Given the description of an element on the screen output the (x, y) to click on. 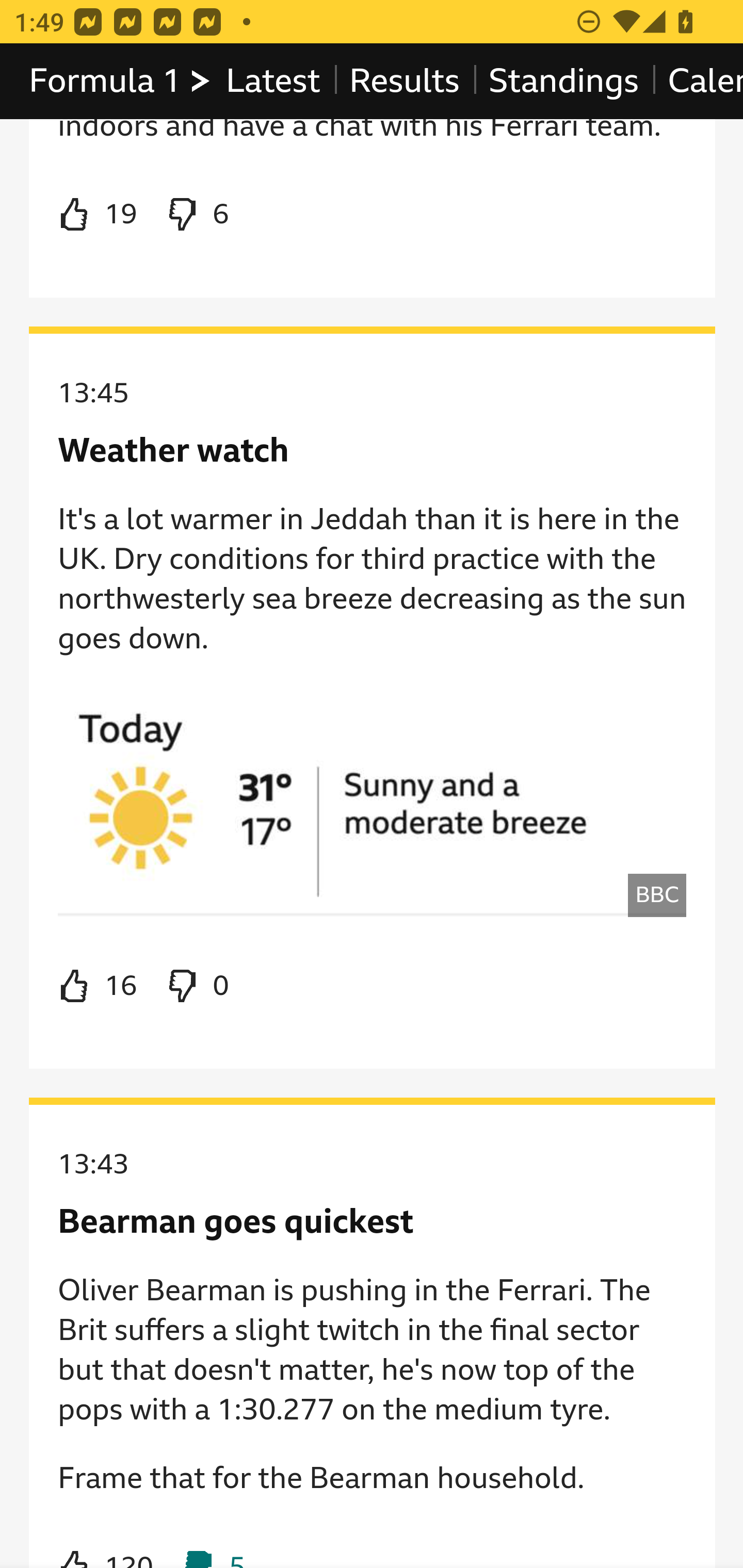
Like (97, 214)
Dislike (196, 214)
Like (97, 986)
Dislike (196, 986)
